Given the description of an element on the screen output the (x, y) to click on. 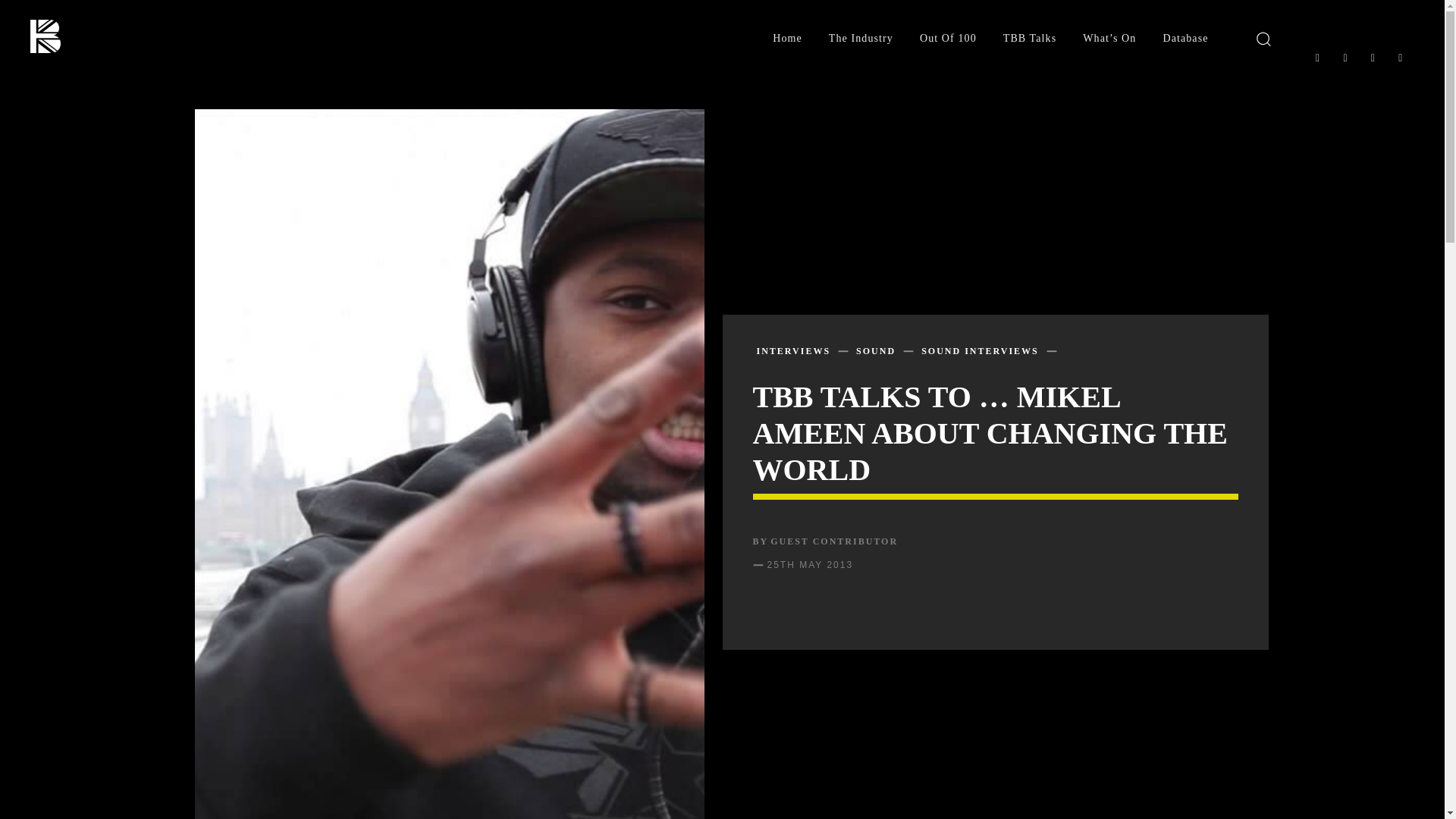
Youtube (1400, 57)
Instagram (1345, 57)
INTERVIEWS (794, 350)
SOUND (875, 350)
Twitter (1372, 57)
The Industry (860, 38)
Facebook (1316, 57)
